Given the description of an element on the screen output the (x, y) to click on. 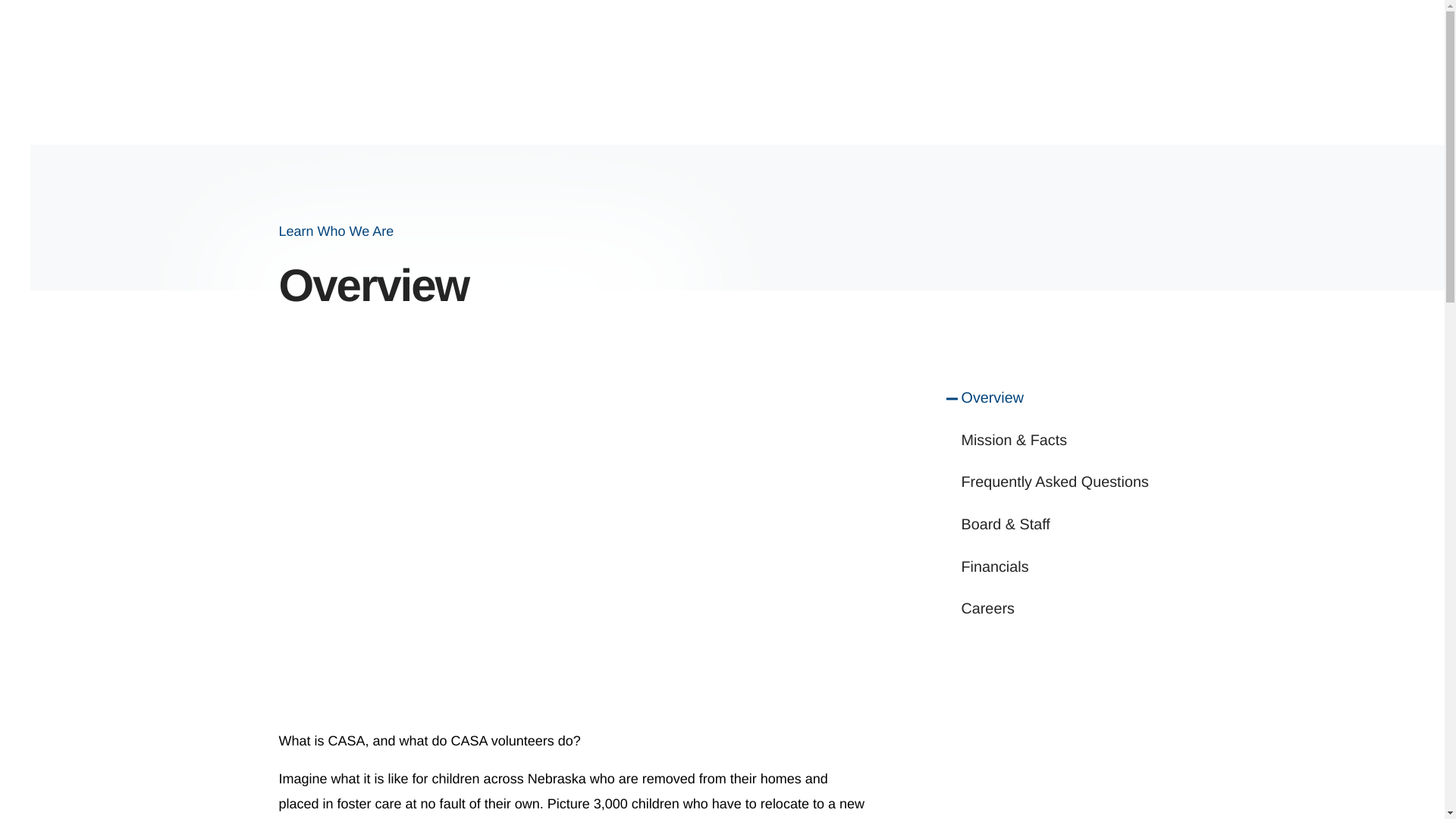
Careers (1063, 609)
Frequently Asked Questions (1063, 482)
Financials (1063, 567)
Overview (1063, 398)
